Given the description of an element on the screen output the (x, y) to click on. 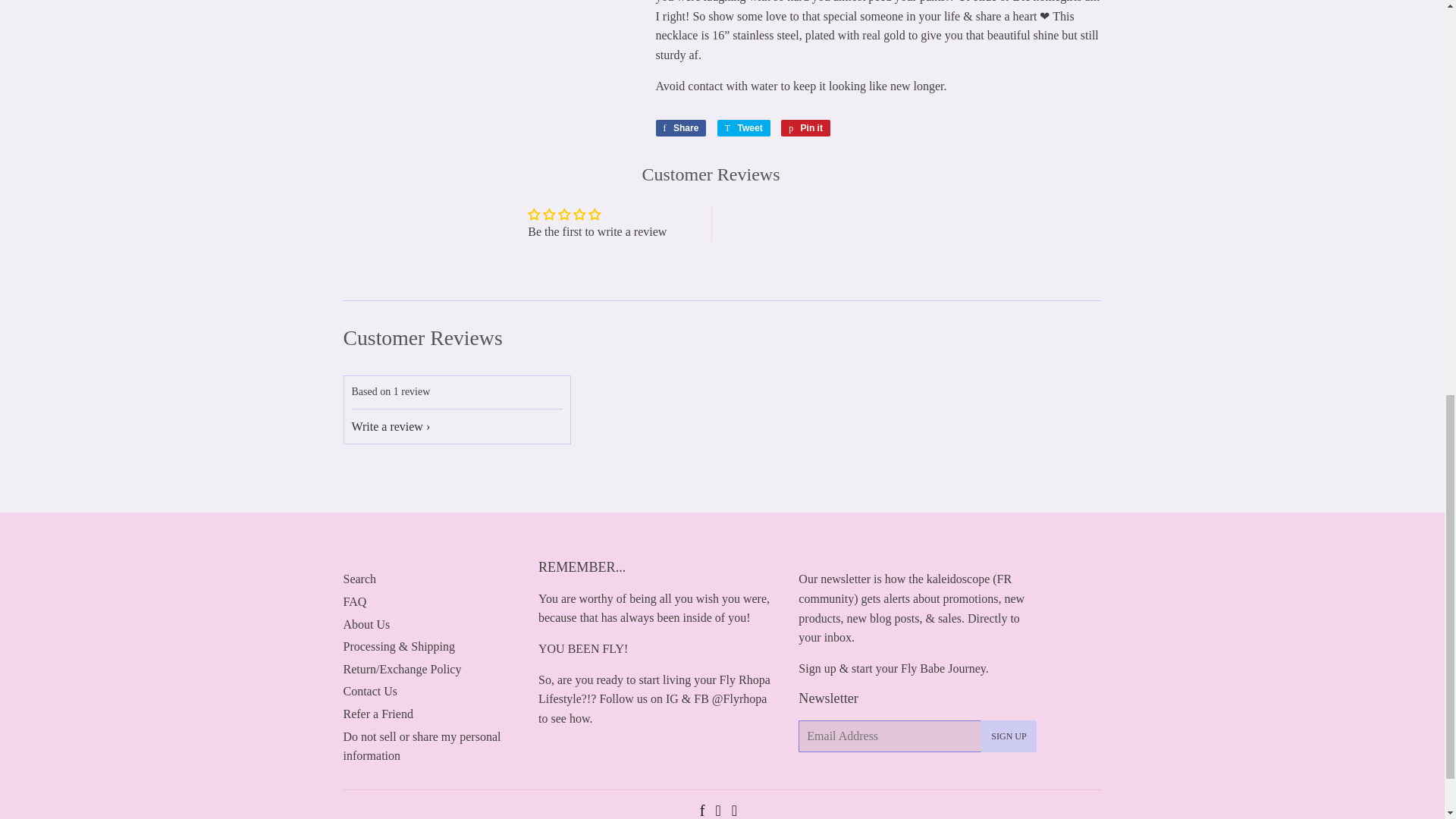
Tweet on Twitter (743, 127)
Share on Facebook (680, 127)
Pin on Pinterest (804, 127)
